Given the description of an element on the screen output the (x, y) to click on. 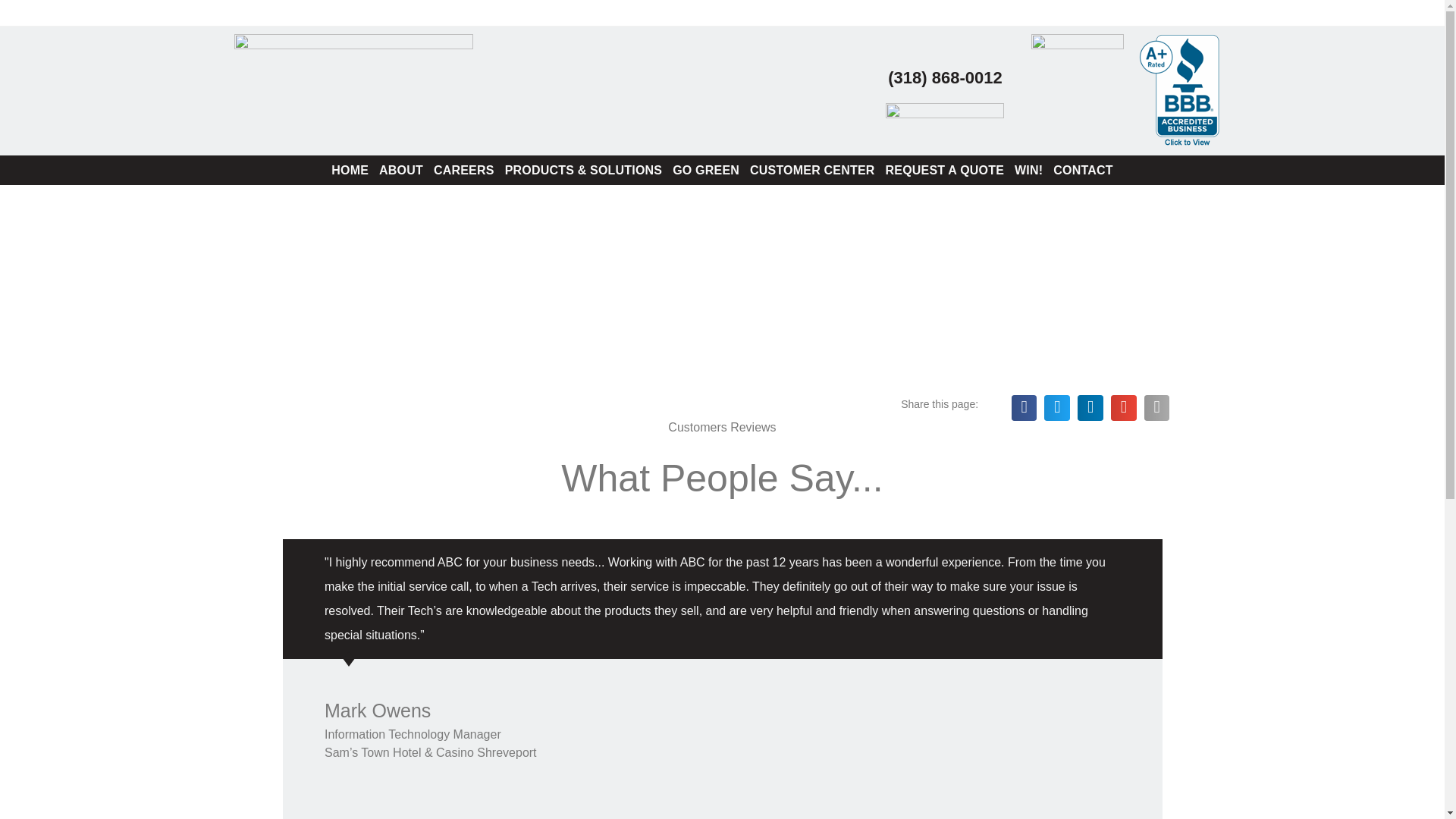
CONTACT (1083, 170)
WIN! (1028, 170)
Enter a Meter Read (1024, 12)
CAREERS (463, 170)
Remote Support (1133, 12)
REQUEST A QUOTE (945, 170)
CUSTOMER CENTER (812, 170)
HOME (350, 170)
Request Supplies (911, 12)
Request Service (809, 12)
